Given the description of an element on the screen output the (x, y) to click on. 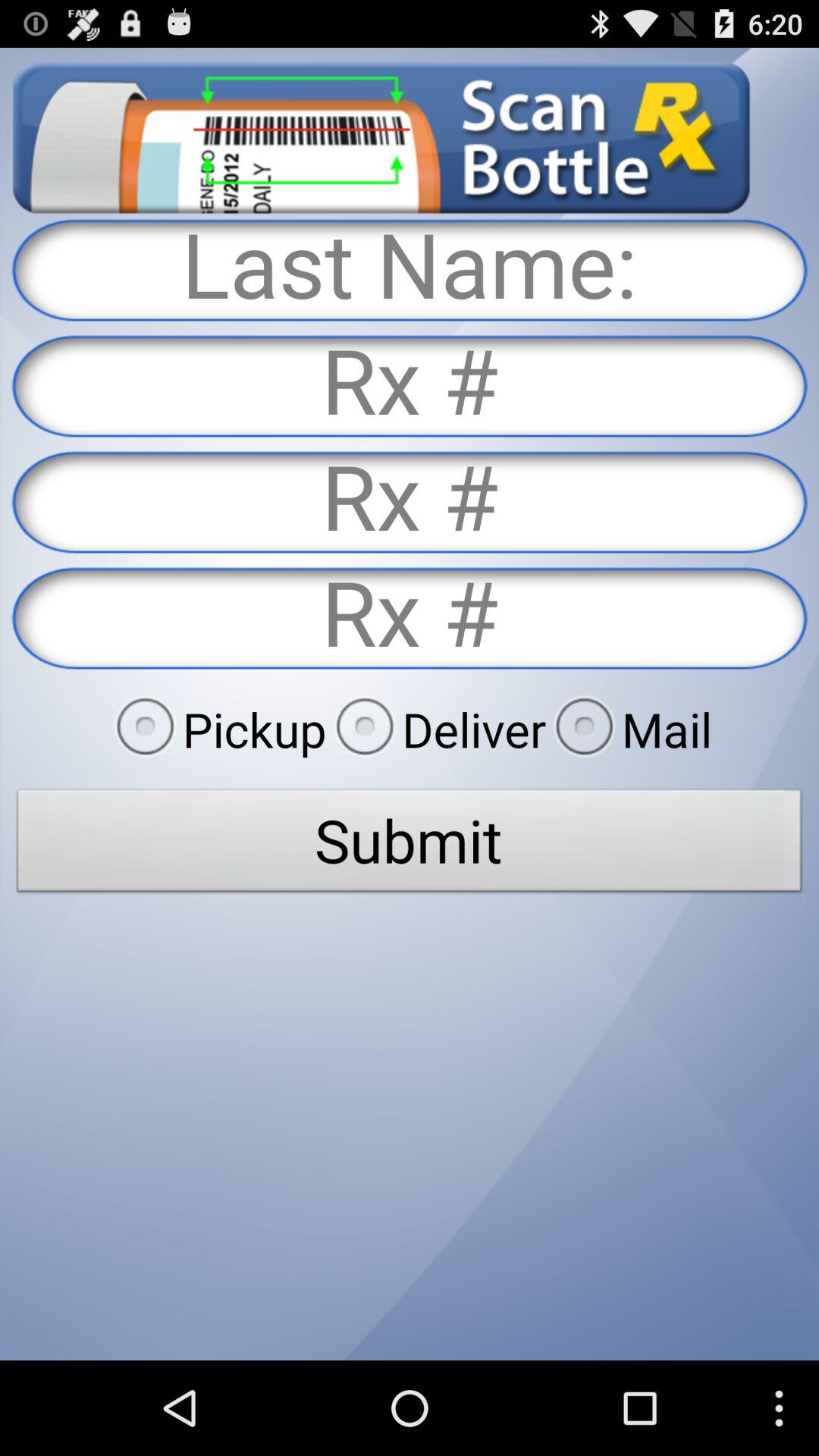
flip to the mail item (629, 728)
